Given the description of an element on the screen output the (x, y) to click on. 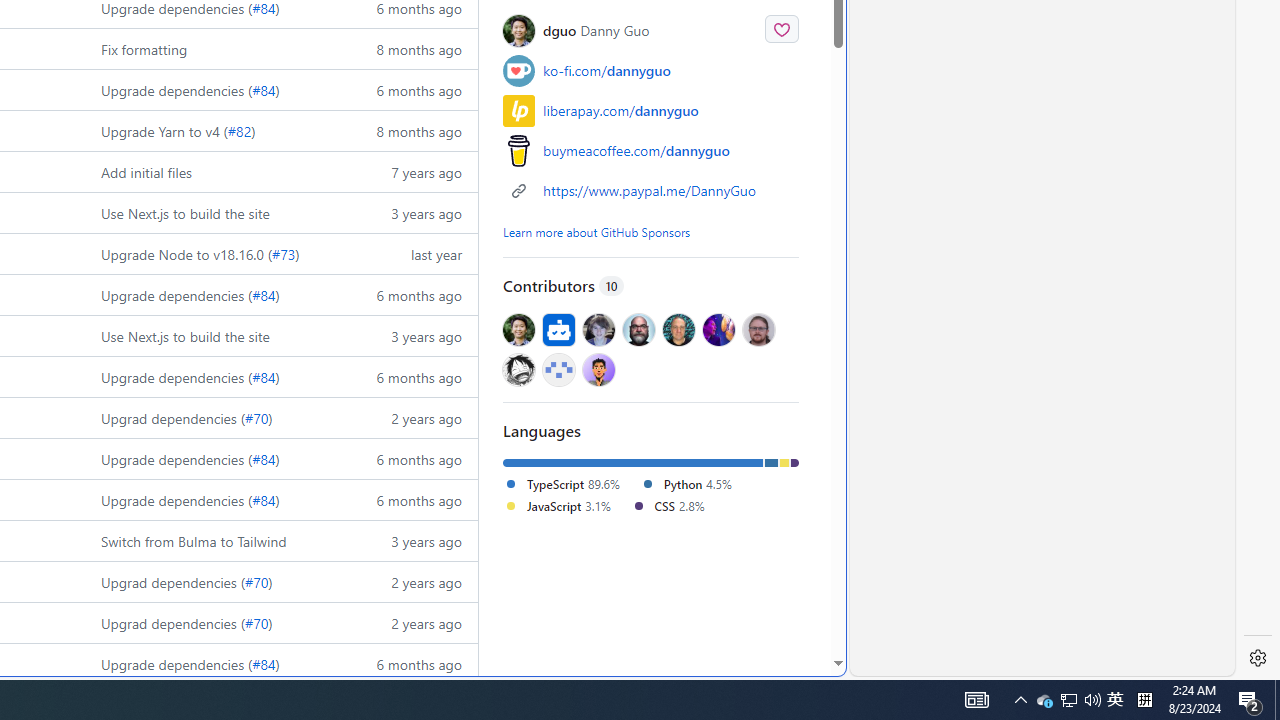
Learn more about GitHub Sponsors (597, 231)
Add initial files (212, 171)
@mstrzele (558, 368)
@dependabot[bot] (558, 329)
Python 4.5% (685, 483)
https://www.paypal.me/DannyGuo (650, 190)
#82 (239, 130)
@Haroenv (718, 329)
@coderberry (639, 329)
CSS 2.8% (667, 505)
@davidak (598, 329)
JavaScript3.1% (567, 506)
@sy-records (519, 368)
Fix formatting (144, 48)
Sponsor @dguo (781, 28)
